Given the description of an element on the screen output the (x, y) to click on. 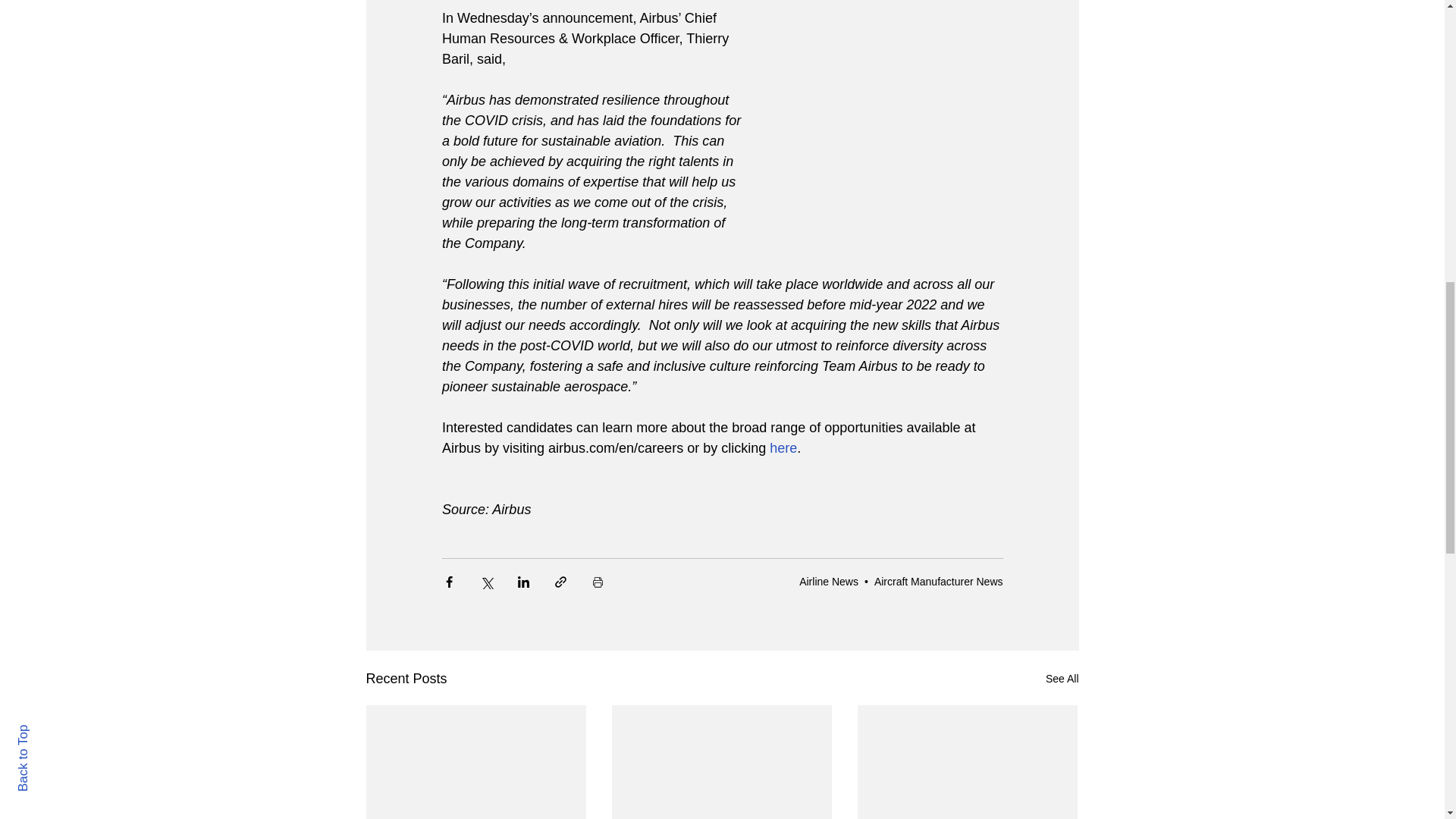
Aircraft Manufacturer News (939, 580)
Airline News (829, 580)
here (783, 447)
See All (1061, 679)
